Given the description of an element on the screen output the (x, y) to click on. 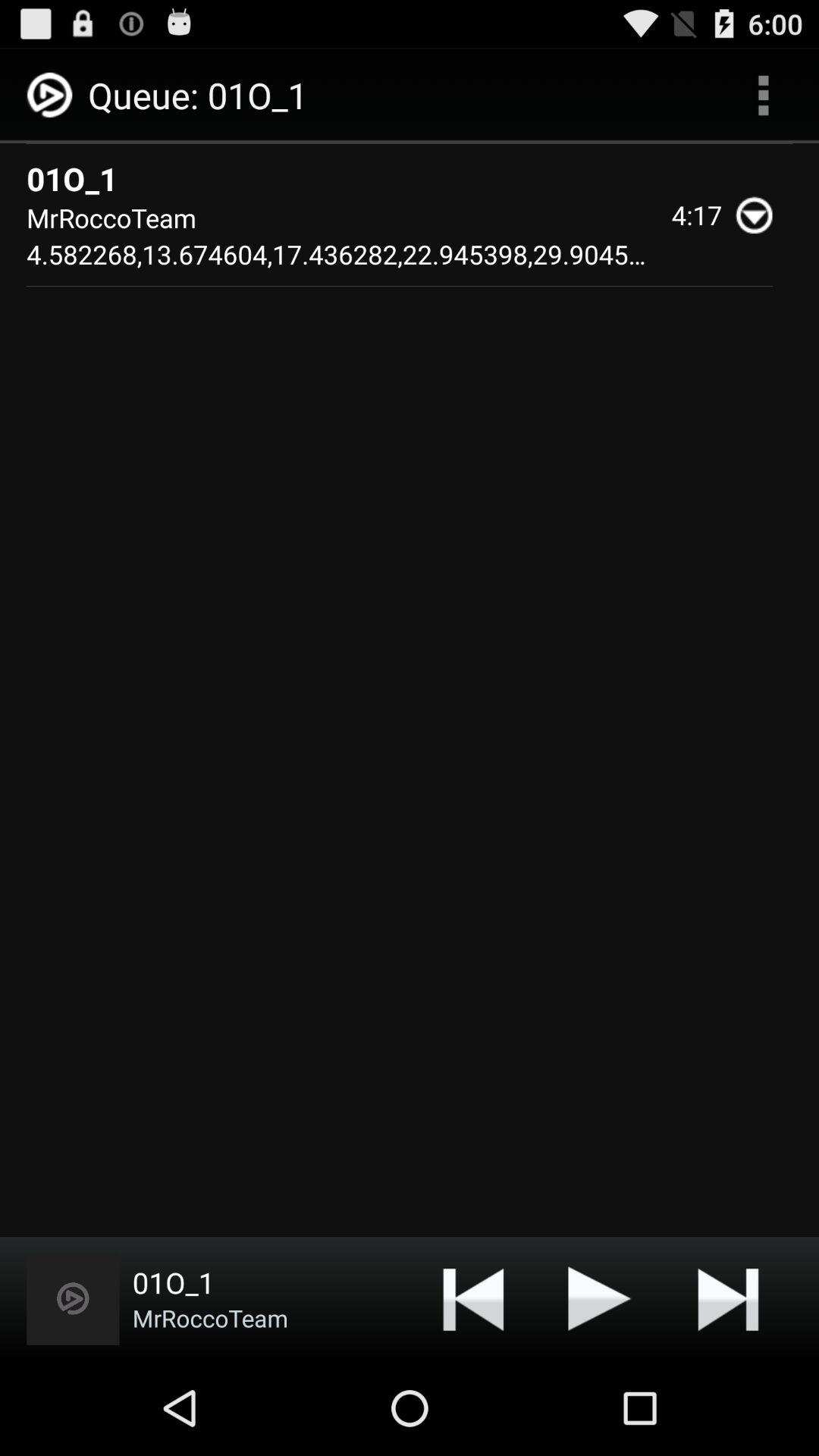
go back (472, 1298)
